Given the description of an element on the screen output the (x, y) to click on. 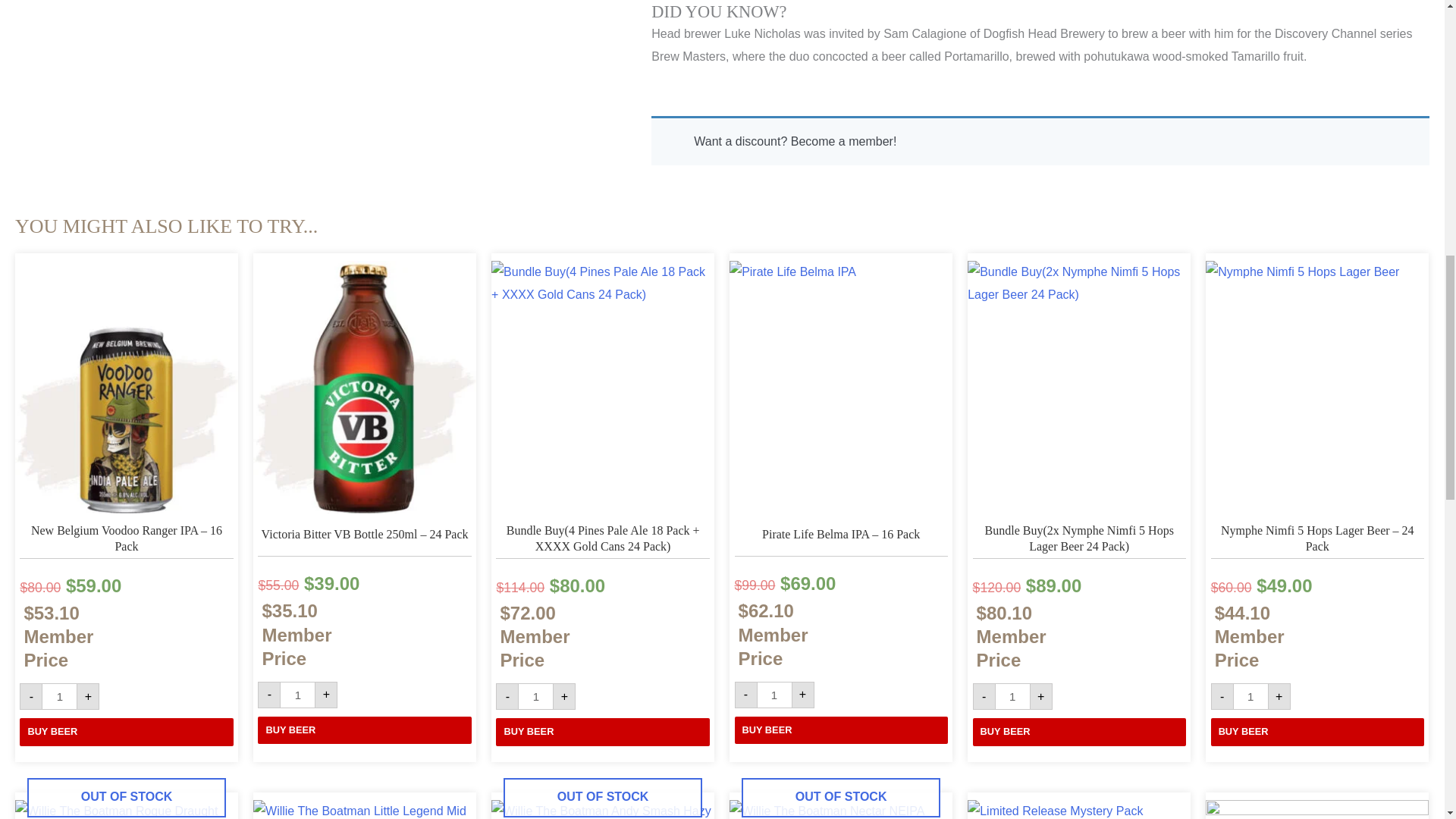
Qty (1250, 696)
1 (297, 694)
Qty (1012, 696)
Qty (535, 696)
1 (774, 694)
1 (1012, 696)
Qty (297, 694)
1 (535, 696)
Qty (59, 696)
Qty (774, 694)
